Given the description of an element on the screen output the (x, y) to click on. 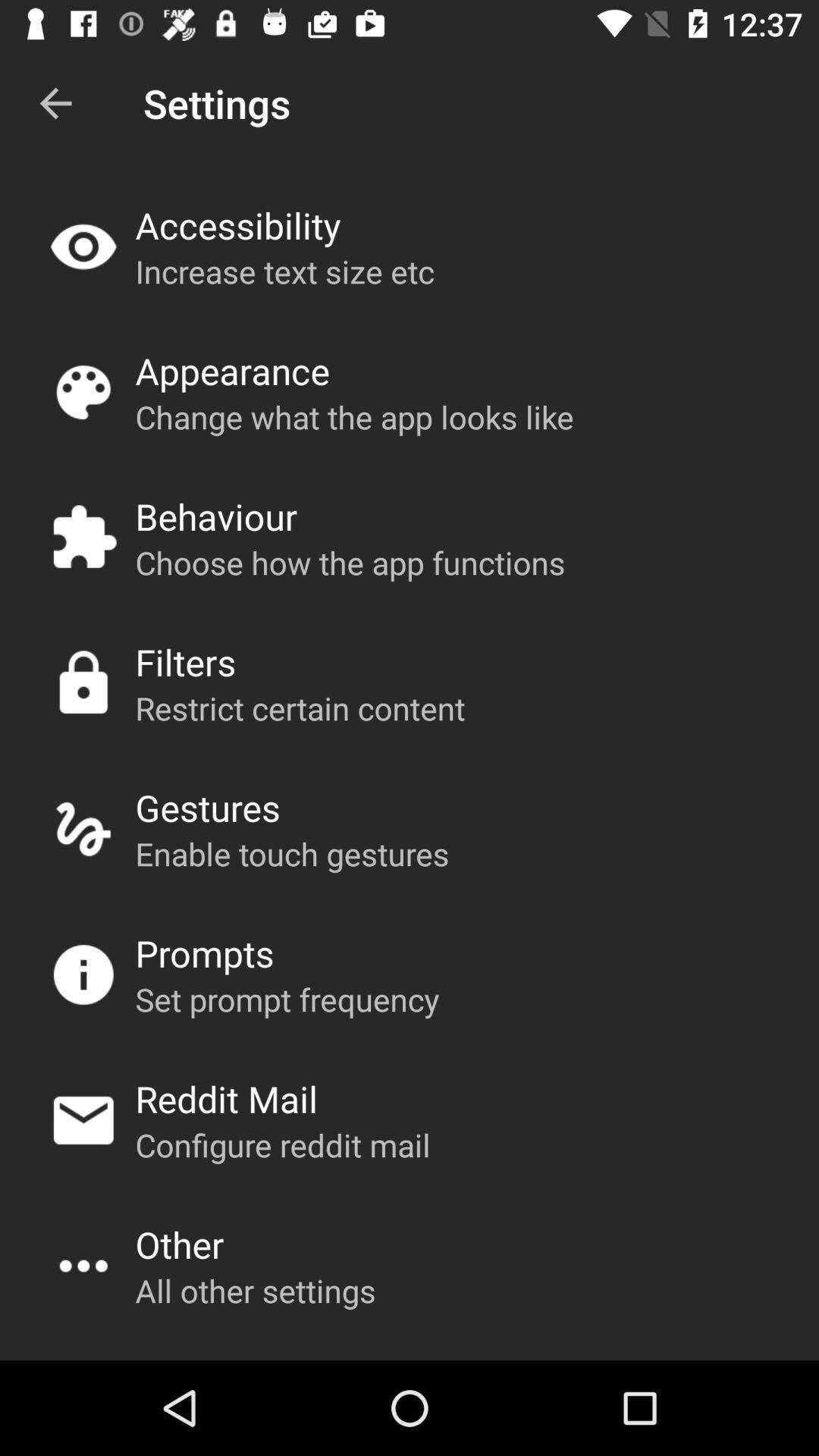
select app above the gestures item (300, 707)
